Given the description of an element on the screen output the (x, y) to click on. 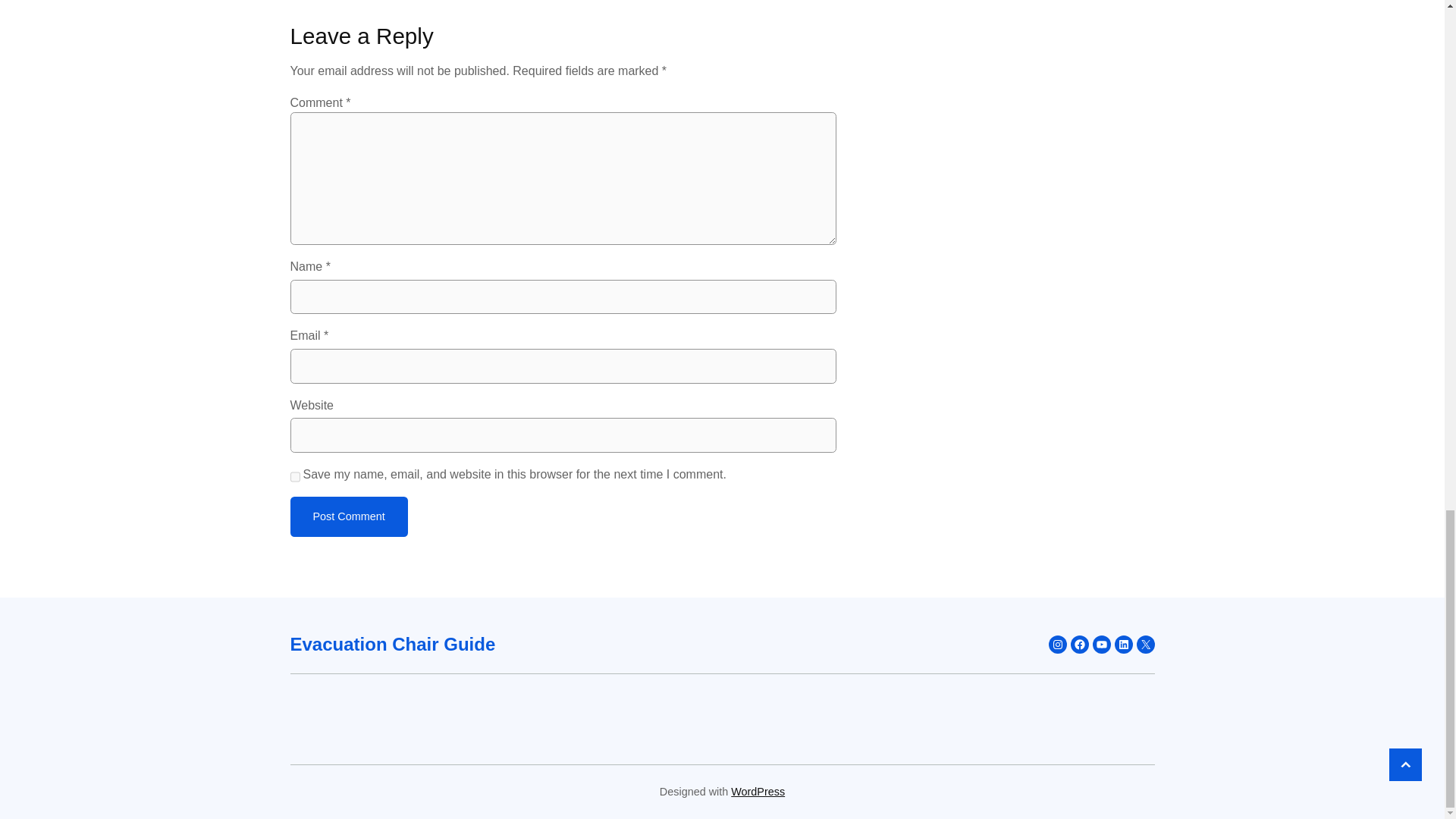
LinkedIn (1123, 644)
Facebook (1079, 644)
YouTube (1100, 644)
yes (294, 476)
WordPress (757, 791)
Post Comment (348, 516)
X (1144, 644)
Instagram (1056, 644)
Post Comment (348, 516)
